Given the description of an element on the screen output the (x, y) to click on. 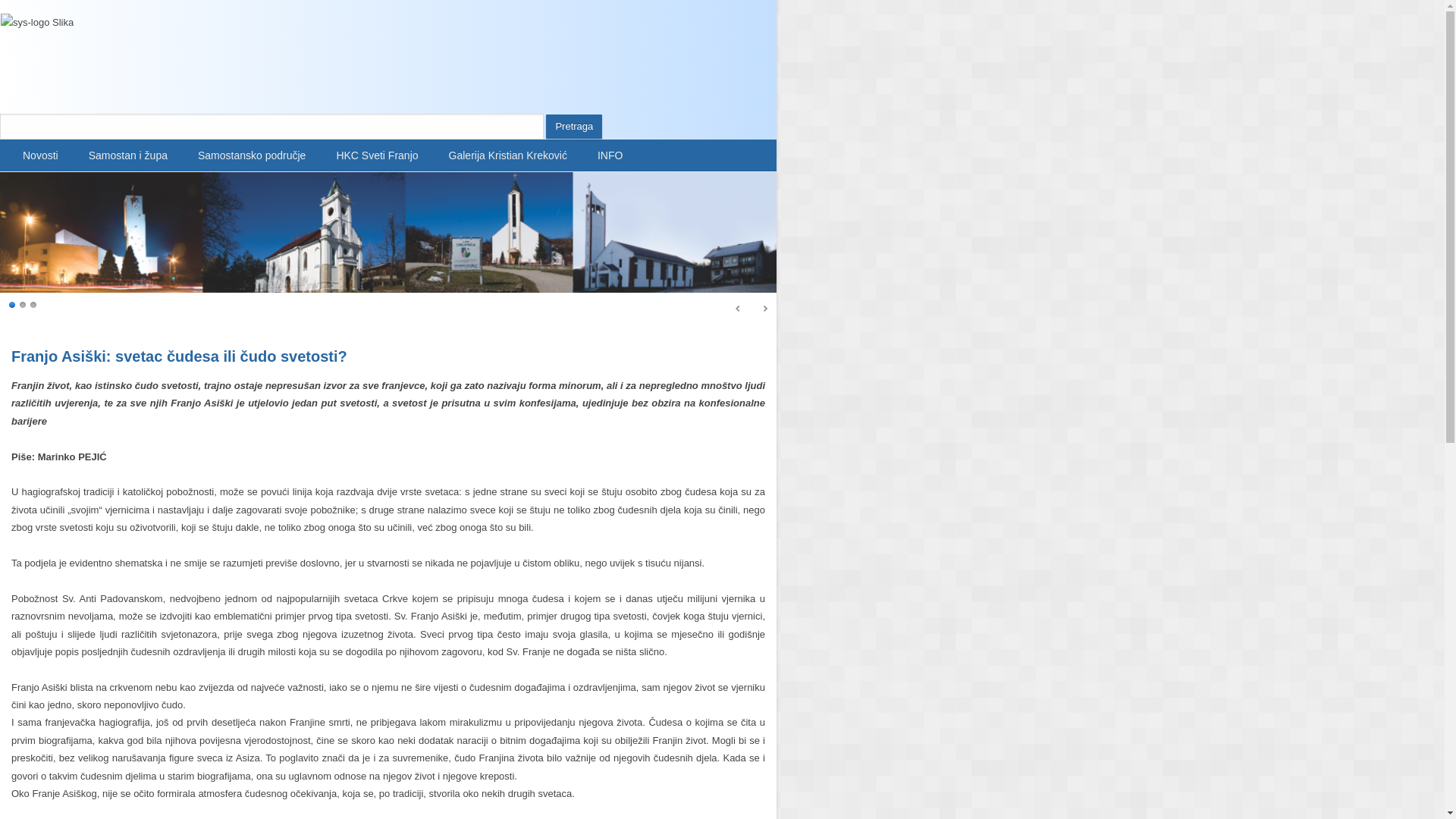
INFO Element type: text (609, 155)
1 Element type: text (12, 303)
Pretraga Element type: text (574, 126)
Novosti Element type: text (40, 155)
2 Element type: text (23, 303)
HKC Sveti Franjo Element type: text (376, 155)
3 Element type: text (33, 303)
